Given the description of an element on the screen output the (x, y) to click on. 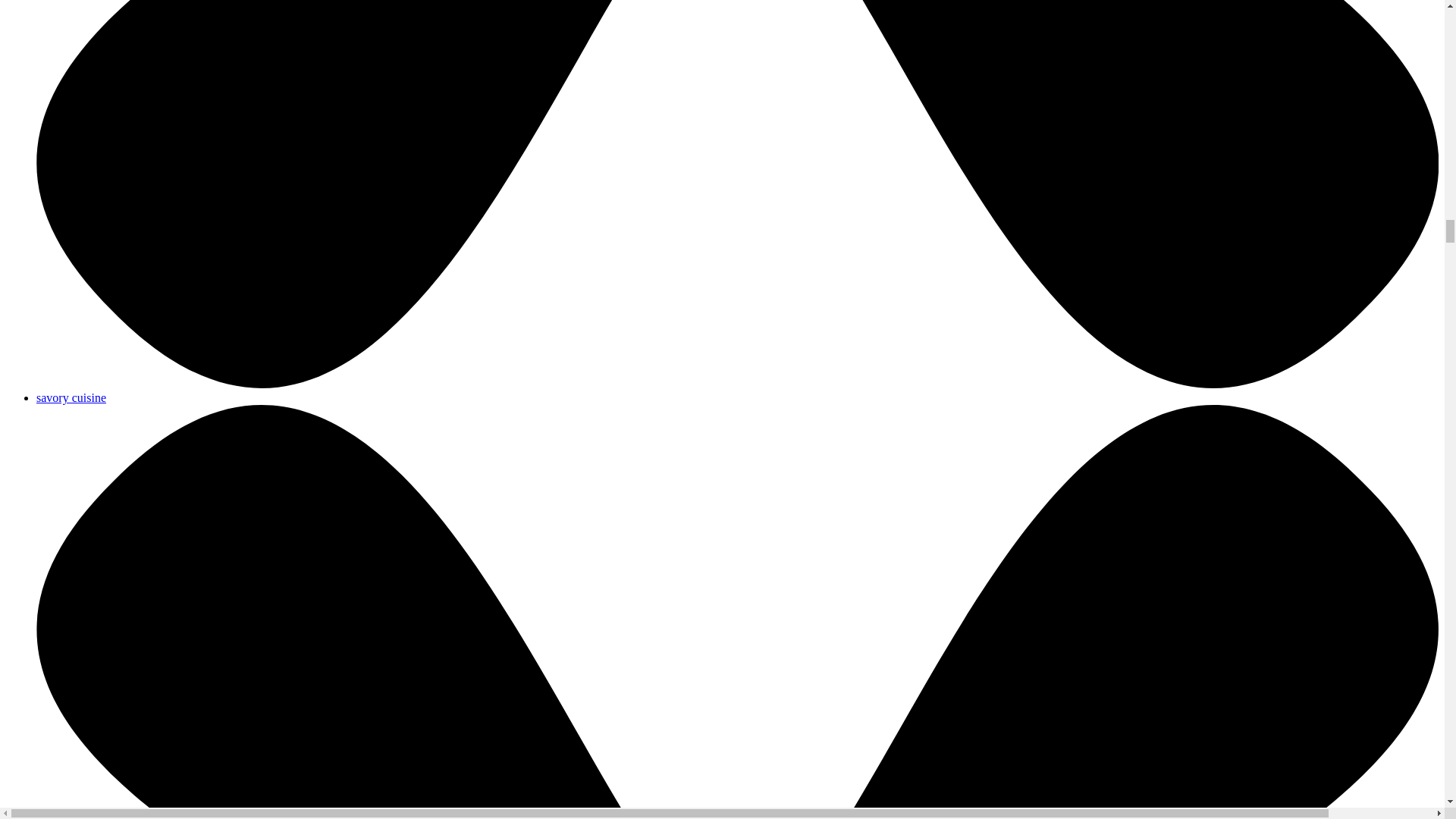
savory cuisine (71, 397)
